Given the description of an element on the screen output the (x, y) to click on. 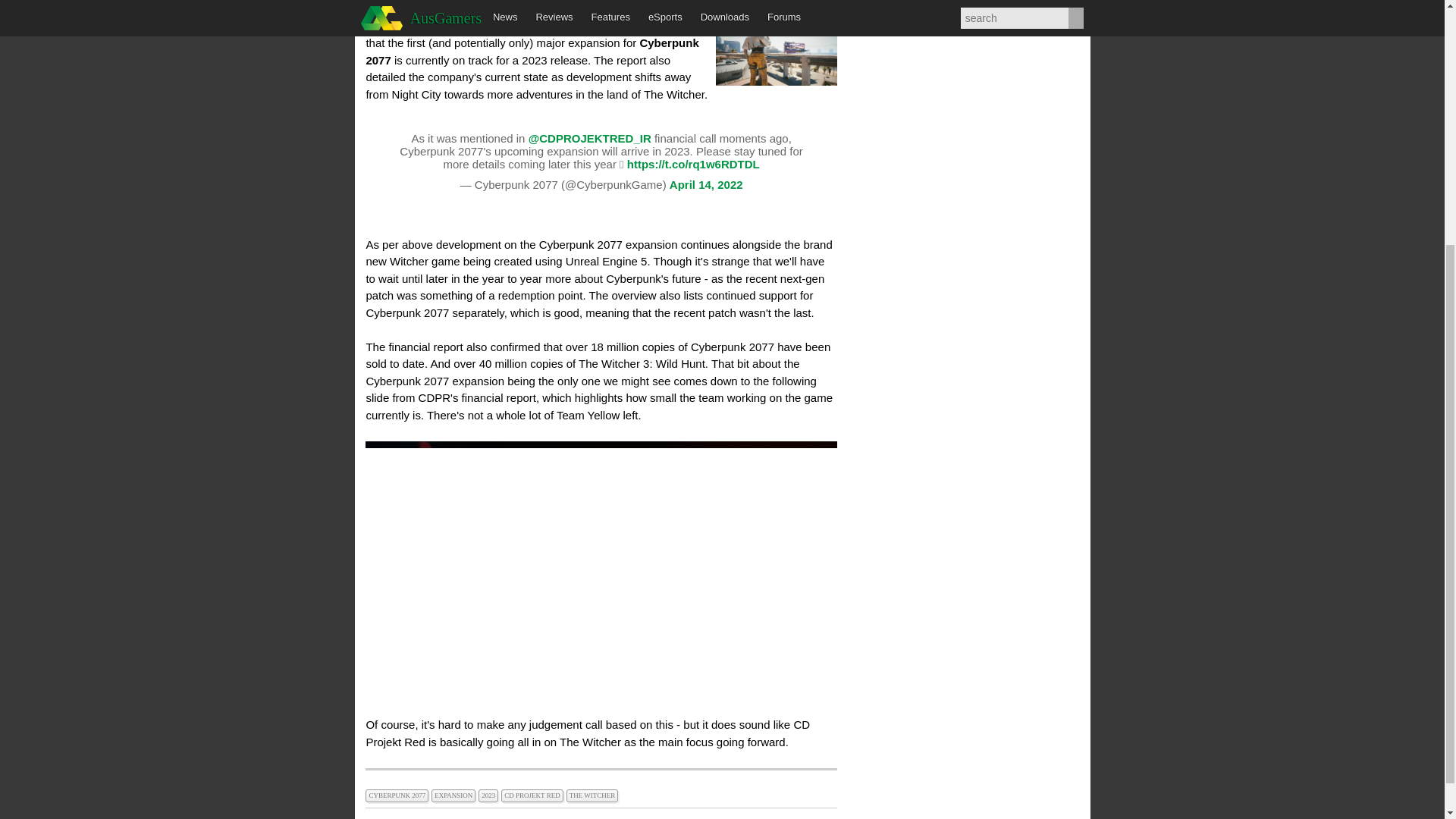
2023 (489, 793)
EXPANSION (454, 793)
financial report (503, 25)
April 14, 2022 (705, 184)
CD PROJEKT RED (533, 793)
THE WITCHER (593, 793)
0 Comments (619, 7)
CYBERPUNK 2077 (397, 793)
